Given the description of an element on the screen output the (x, y) to click on. 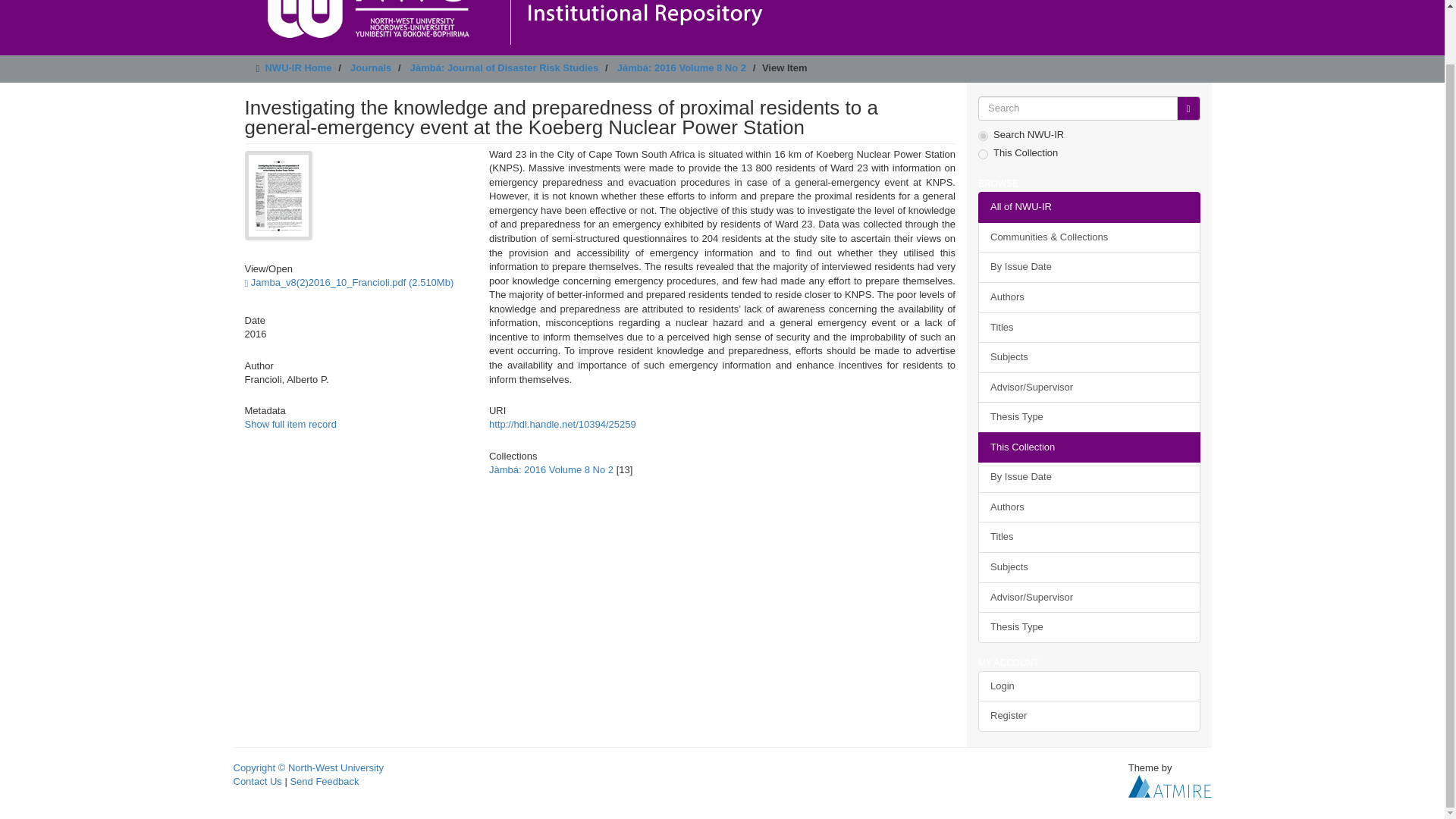
Journals (370, 67)
Show full item record (290, 423)
NWU-IR Home (297, 67)
Thesis Type (1088, 417)
This Collection (1088, 447)
Thesis Type (1088, 626)
Subjects (1088, 357)
Subjects (1088, 567)
All of NWU-IR (1088, 206)
Authors (1088, 296)
